Given the description of an element on the screen output the (x, y) to click on. 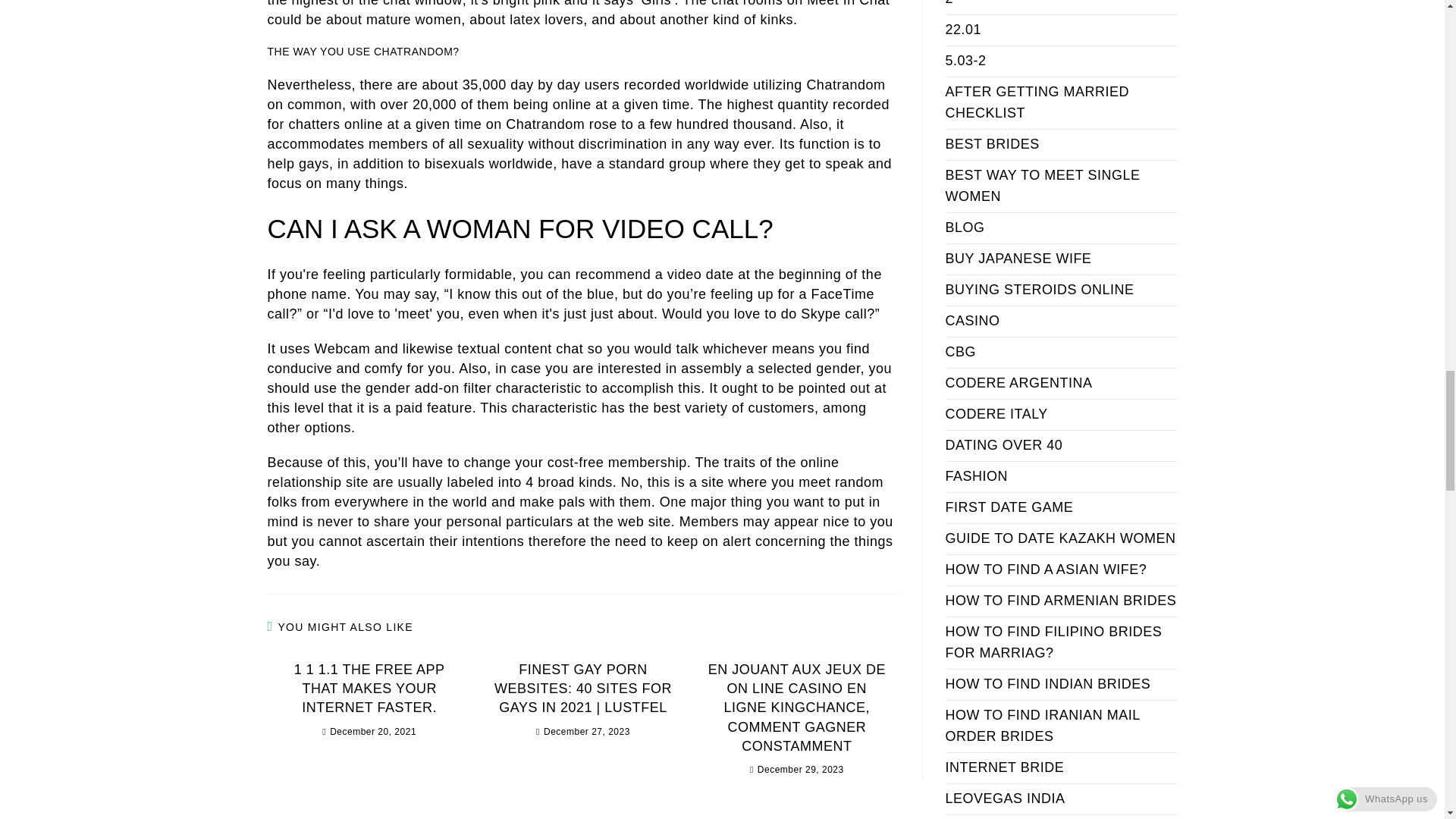
1 1 1.1 THE FREE APP THAT MAKES YOUR INTERNET FASTER. (368, 689)
1 1 1.1 The free app that makes your Internet faster. (368, 689)
